Given the description of an element on the screen output the (x, y) to click on. 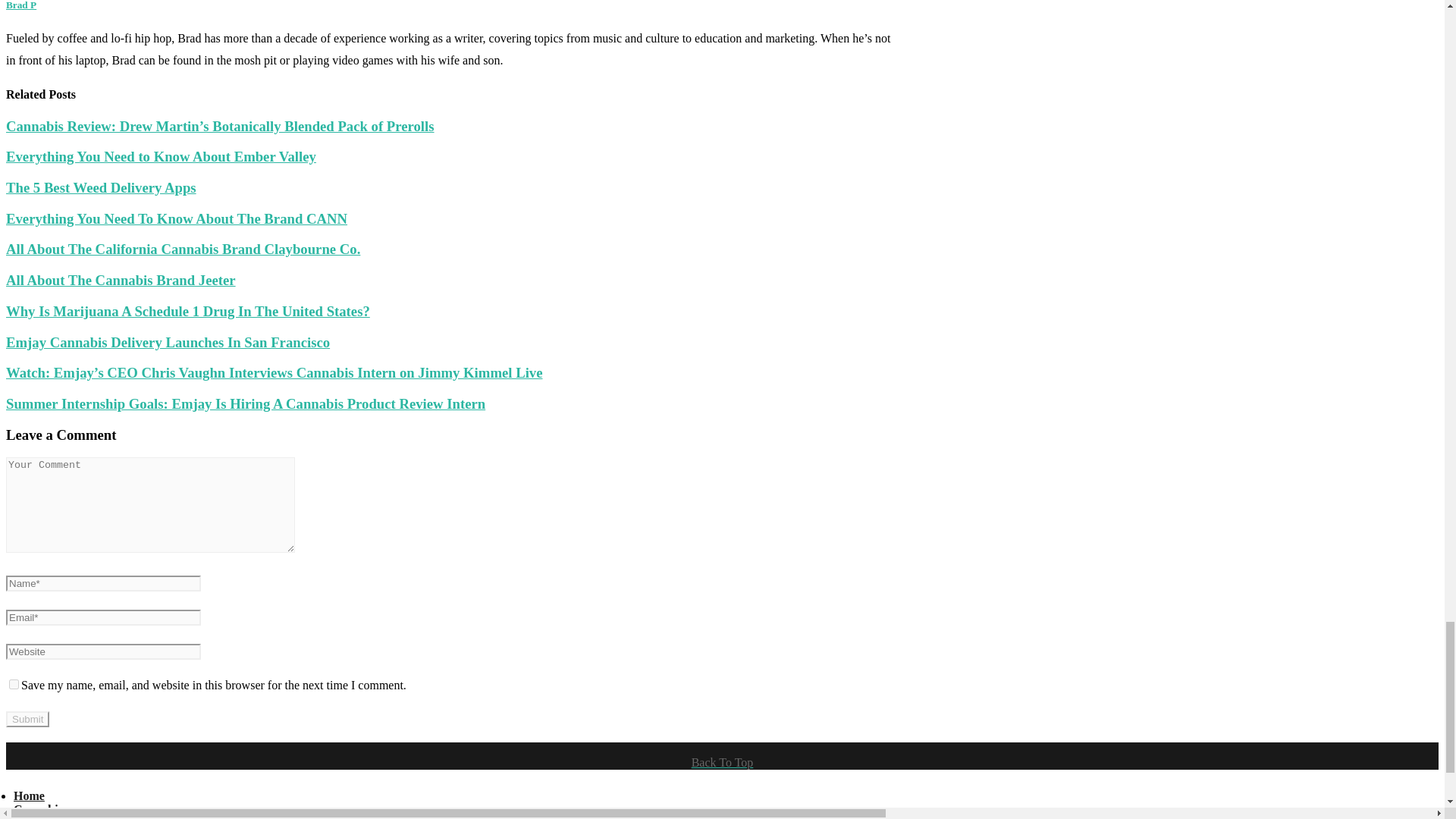
Author Brad P (20, 5)
Brad P (20, 5)
Submit (27, 719)
yes (13, 684)
